Given the description of an element on the screen output the (x, y) to click on. 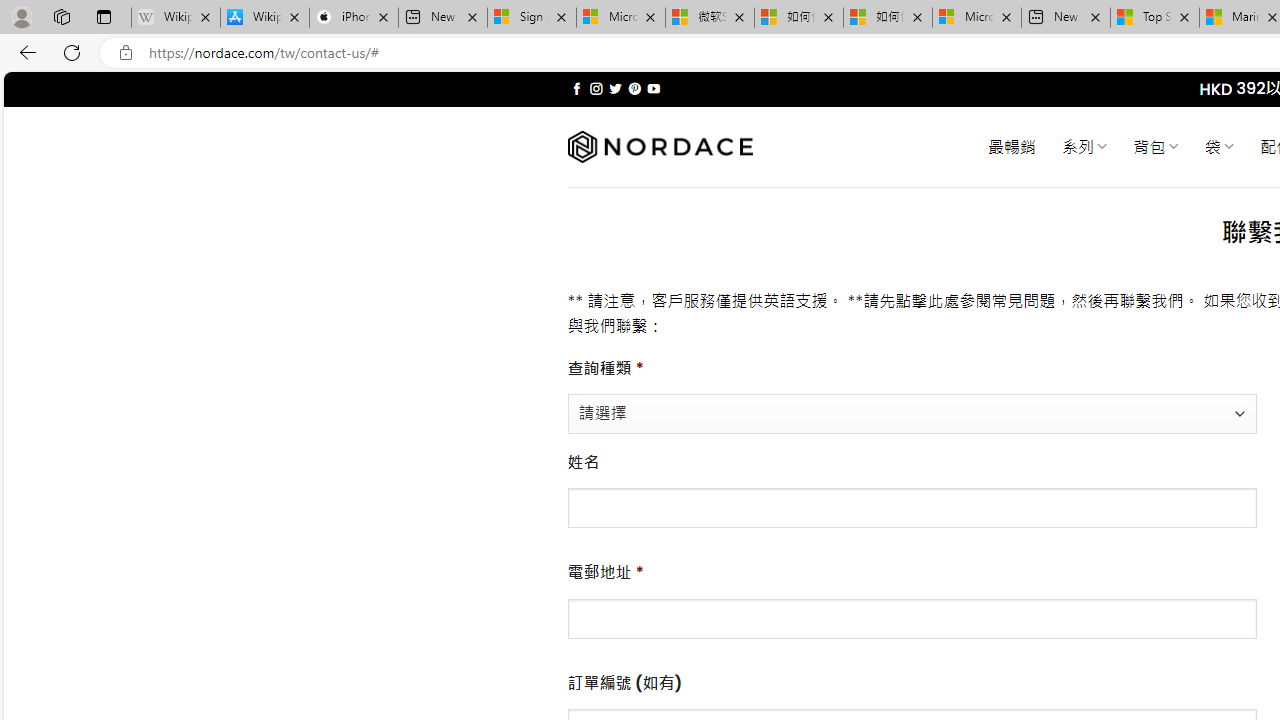
Microsoft Services Agreement (621, 17)
Top Stories - MSN (1155, 17)
